Given the description of an element on the screen output the (x, y) to click on. 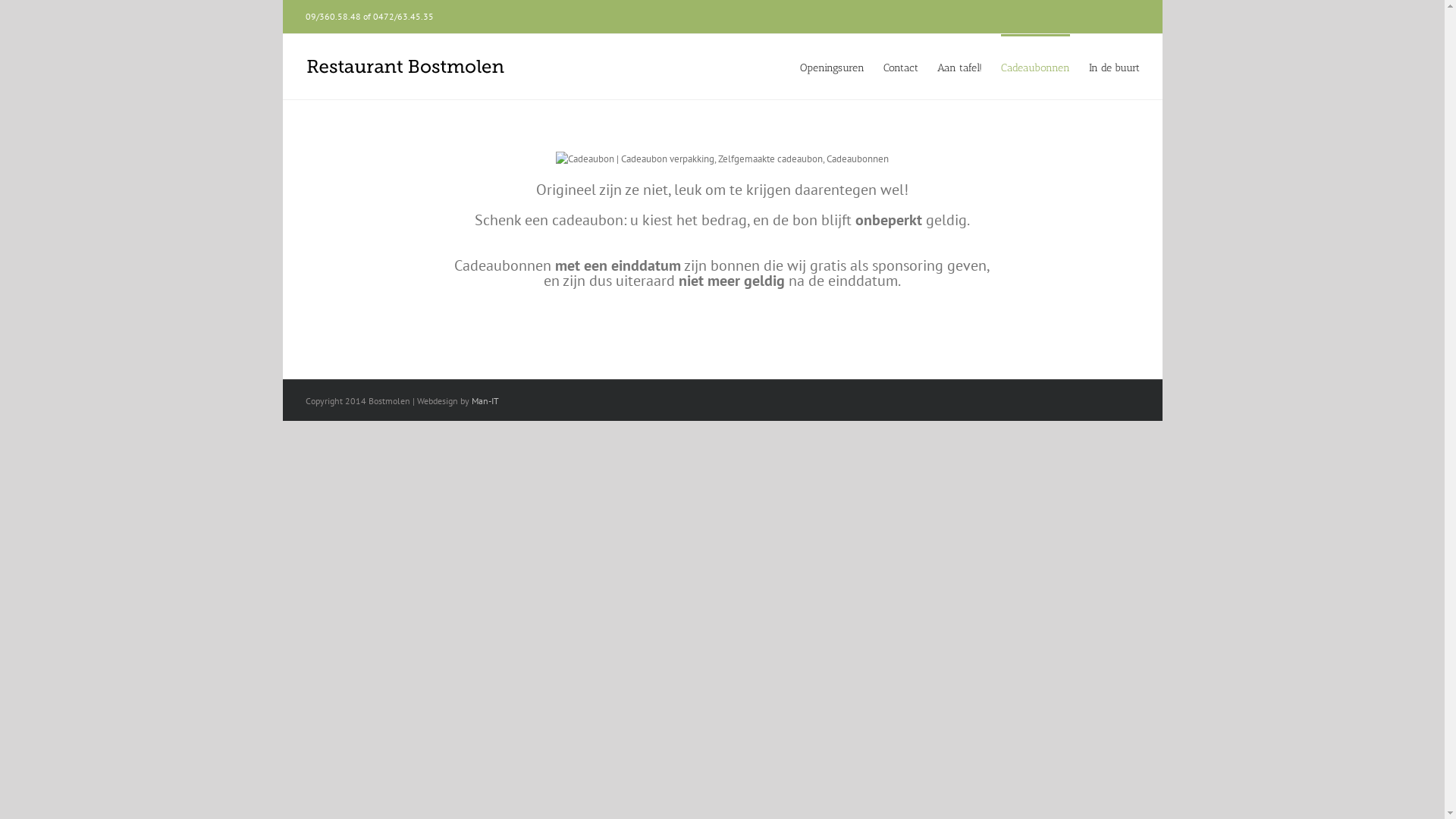
Aan tafel! Element type: text (959, 66)
Man-IT Element type: text (484, 400)
Cadeaubonnen Element type: text (1035, 66)
Openingsuren Element type: text (831, 66)
In de buurt Element type: text (1113, 66)
Contact Element type: text (899, 66)
